Given the description of an element on the screen output the (x, y) to click on. 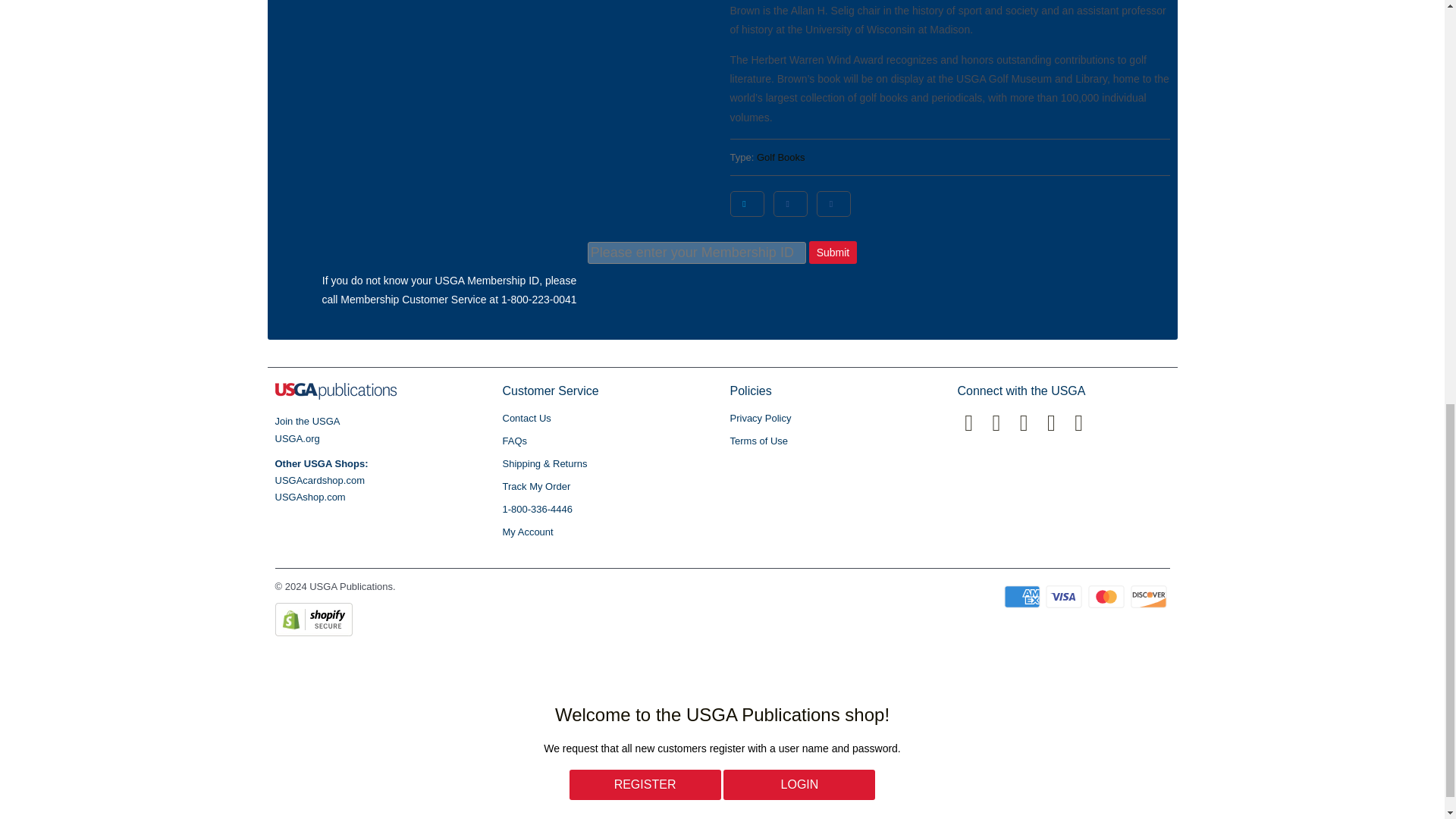
Golf Books (781, 156)
